Given the description of an element on the screen output the (x, y) to click on. 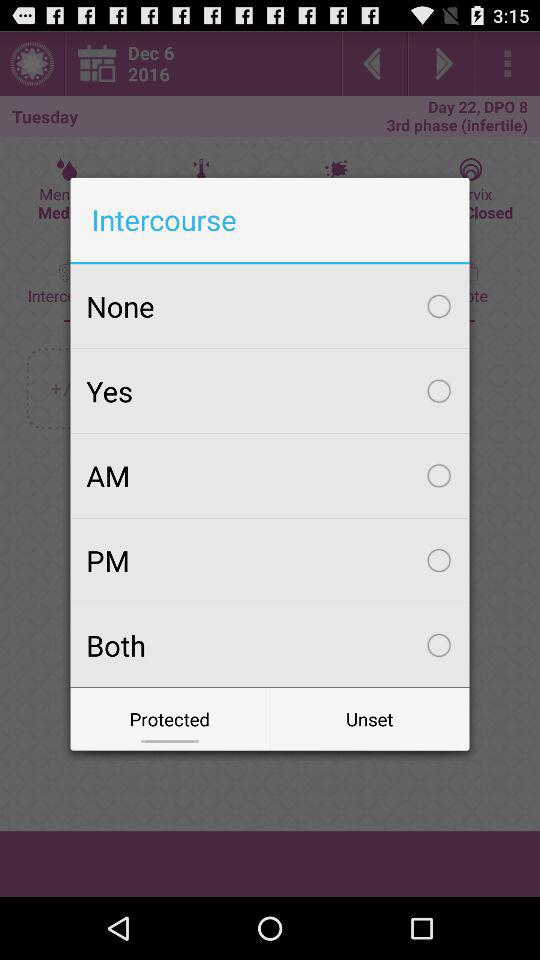
turn on protected icon (169, 718)
